Given the description of an element on the screen output the (x, y) to click on. 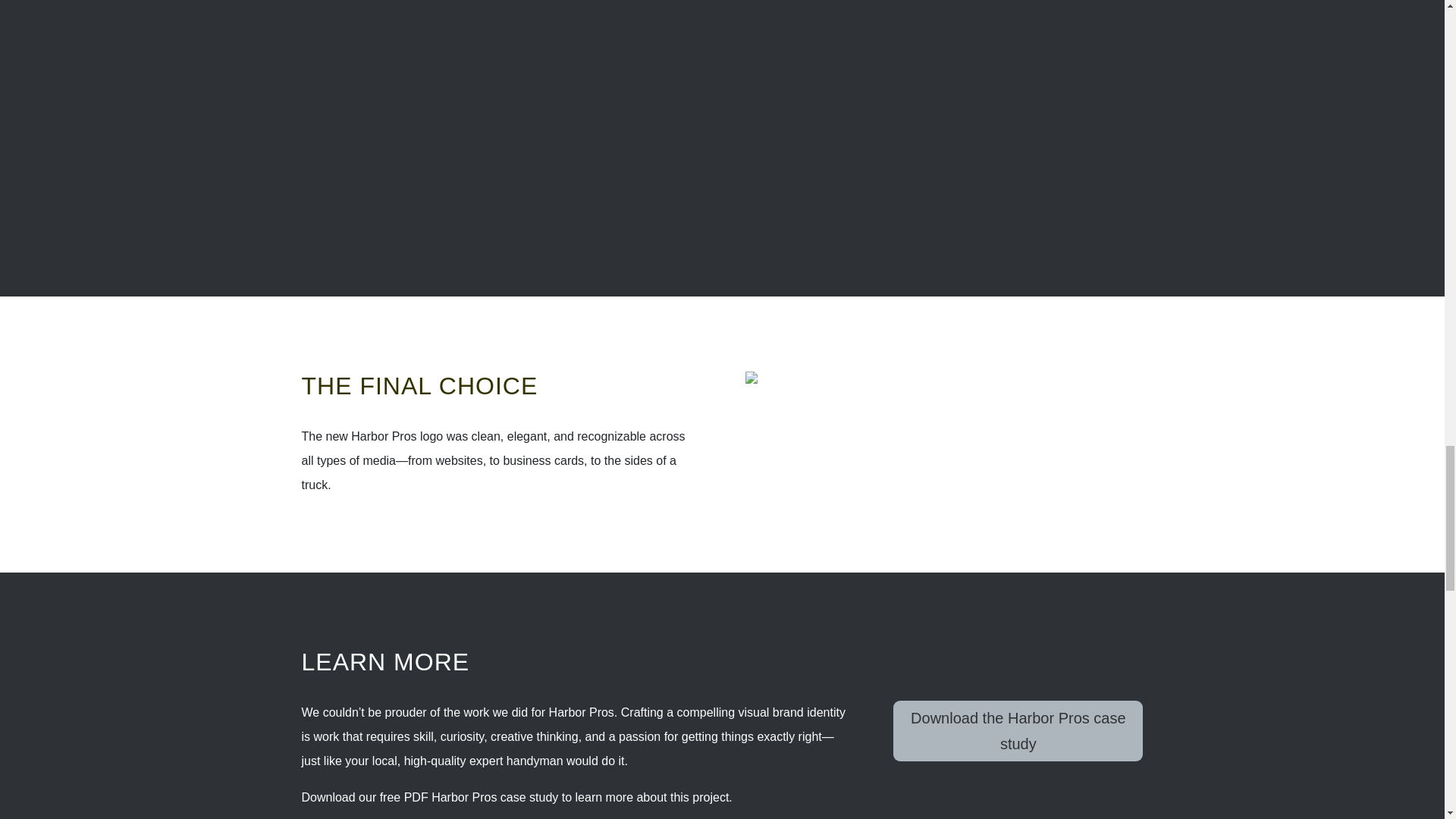
Download the Harbor Pros case study (1017, 731)
HarborProsExplorations (499, 110)
HarborPros-final-choice (912, 377)
